Given the description of an element on the screen output the (x, y) to click on. 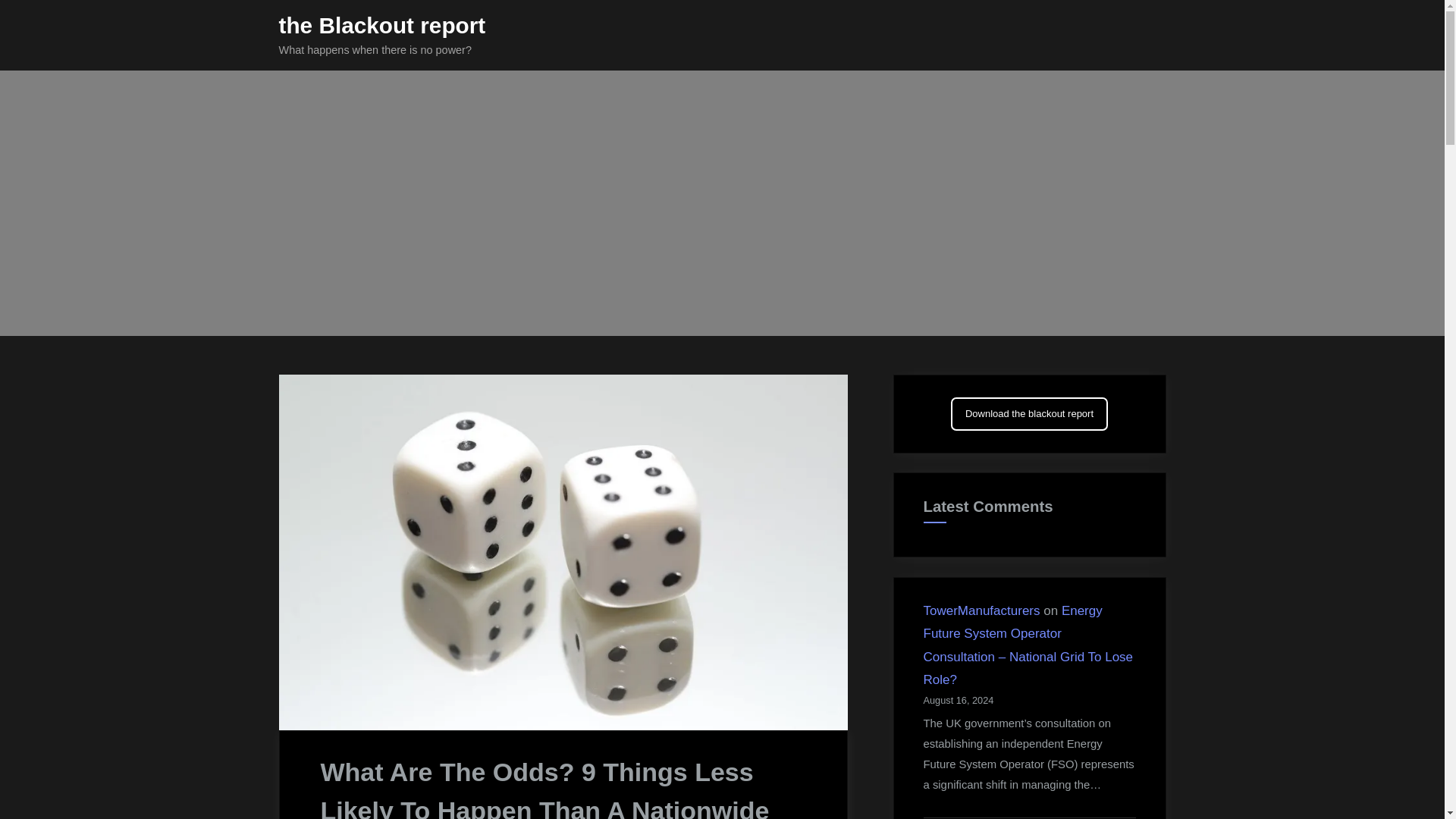
TowerManufacturers (982, 610)
Download the blackout report (1029, 413)
the Blackout report (382, 25)
